Given the description of an element on the screen output the (x, y) to click on. 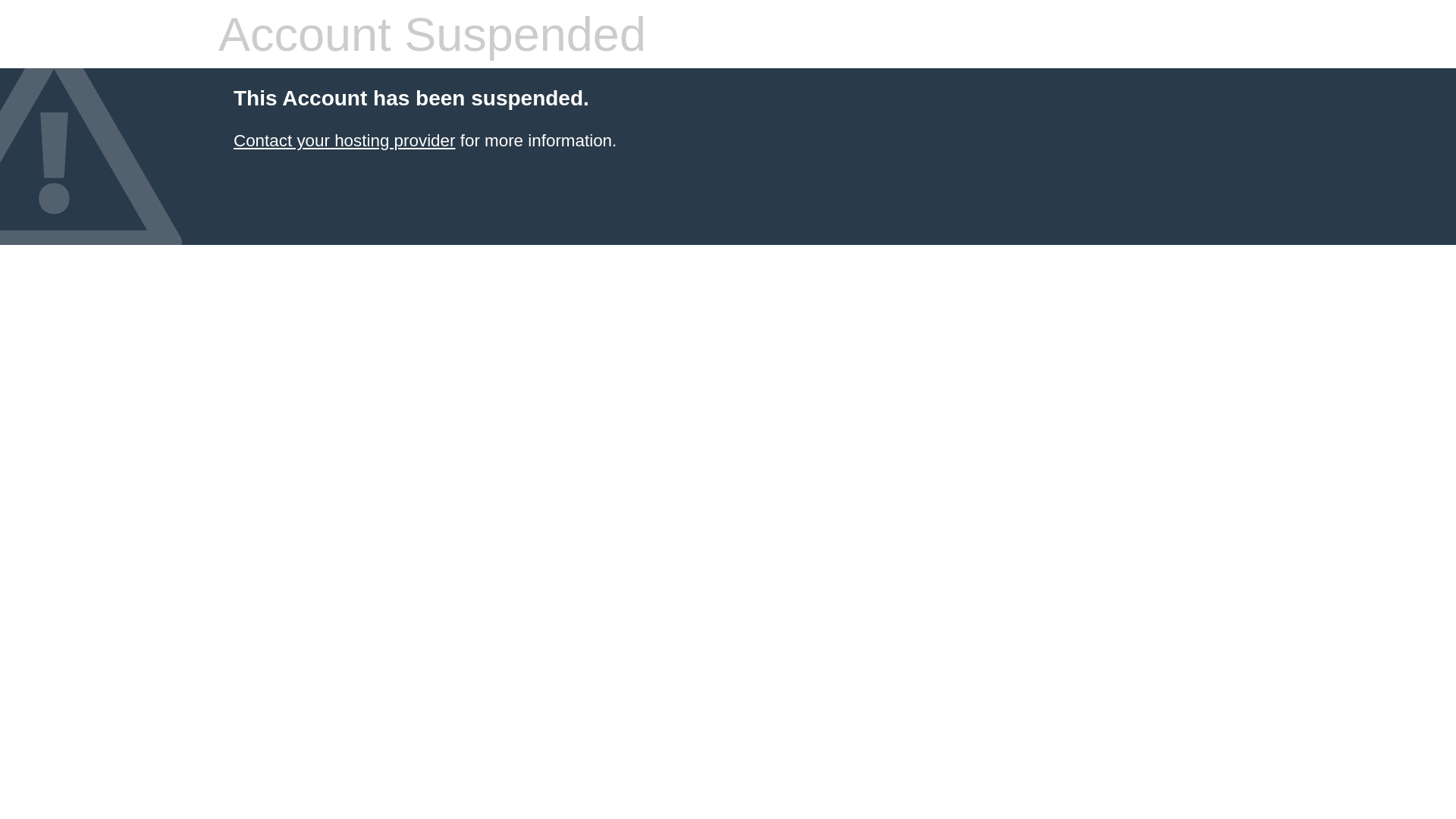
Contact your hosting provider Element type: text (344, 140)
